Given the description of an element on the screen output the (x, y) to click on. 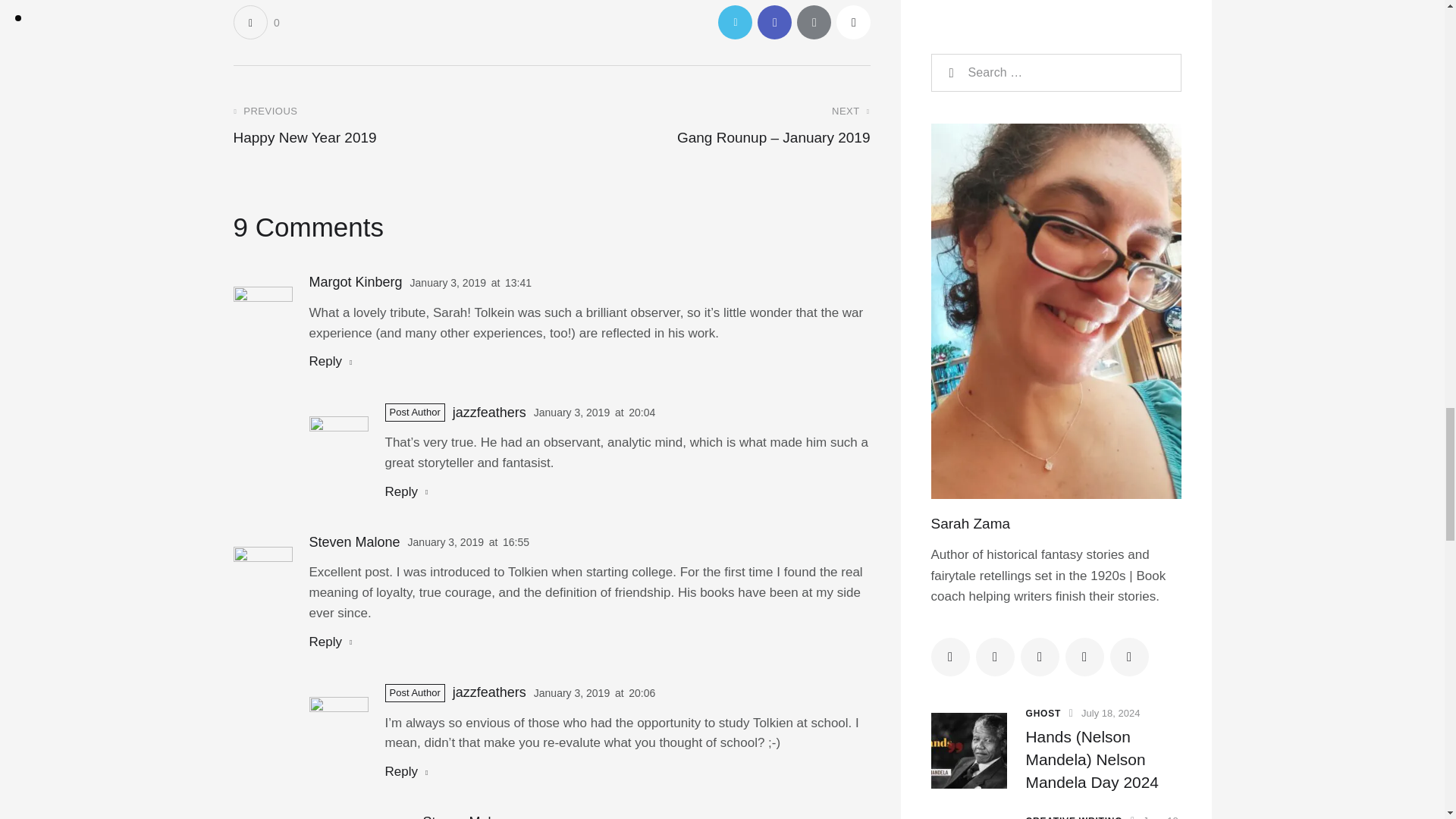
Like (255, 21)
Copy URL to clipboard (852, 21)
